Given the description of an element on the screen output the (x, y) to click on. 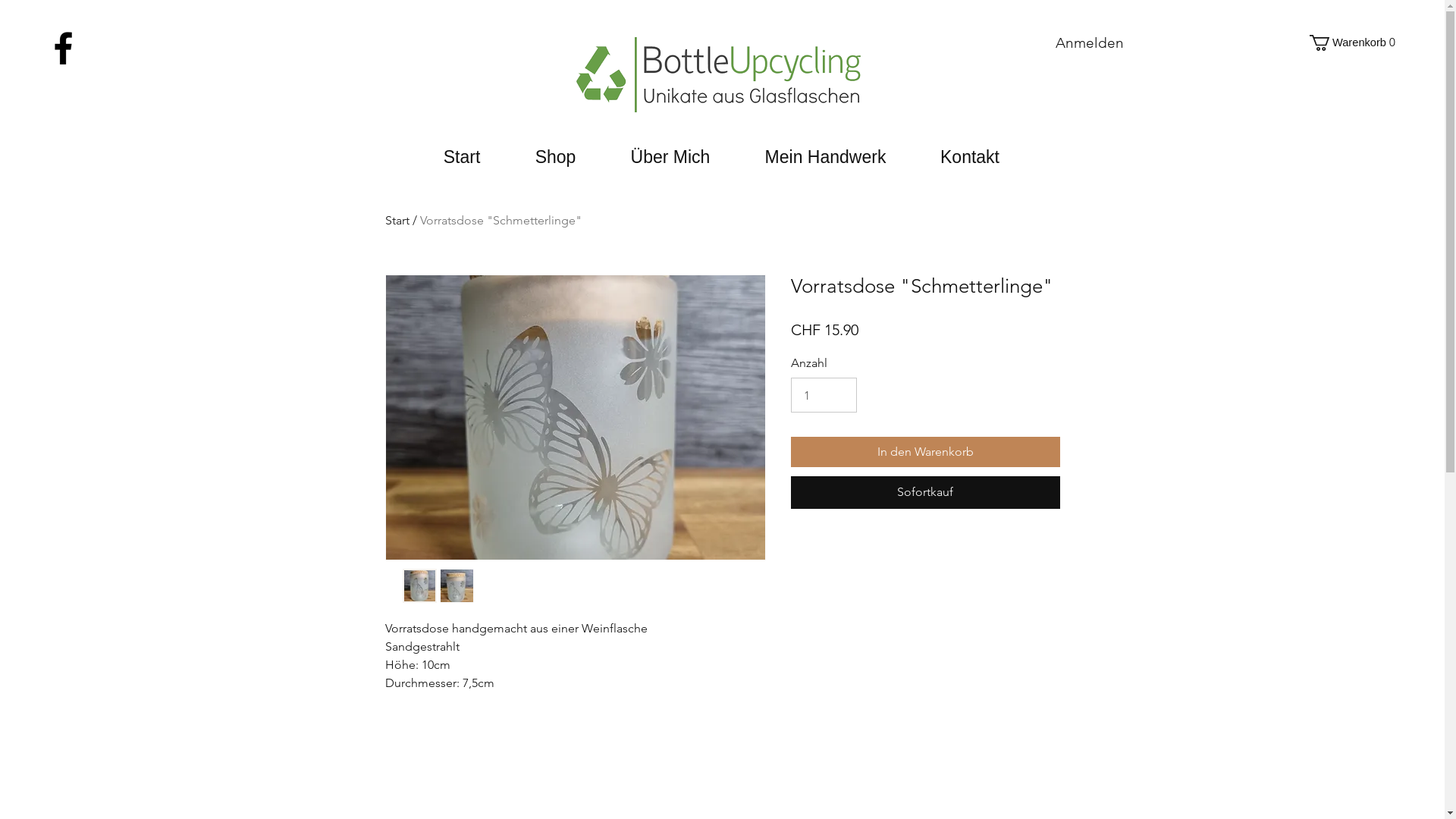
Shop Element type: text (555, 156)
Kontakt Element type: text (969, 156)
Sofortkauf Element type: text (924, 492)
Vorratsdose "Schmetterlinge" Element type: text (500, 220)
Mein Handwerk Element type: text (825, 156)
Warenkorb
0 Element type: text (1355, 42)
Anmelden Element type: text (1089, 43)
In den Warenkorb Element type: text (924, 451)
Start Element type: text (461, 156)
Start Element type: text (397, 220)
